Given the description of an element on the screen output the (x, y) to click on. 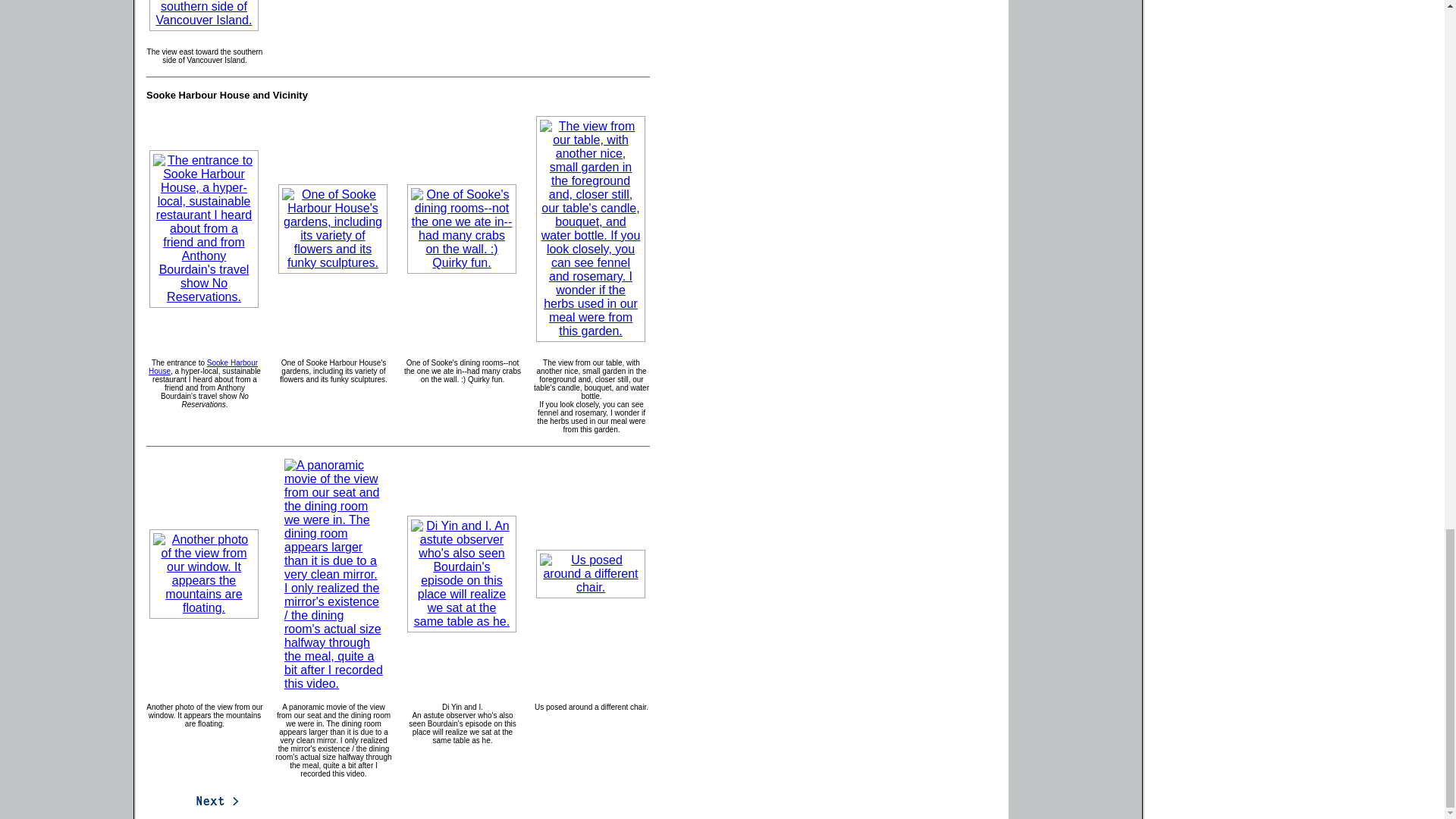
Sooke Harbour House (202, 366)
